Given the description of an element on the screen output the (x, y) to click on. 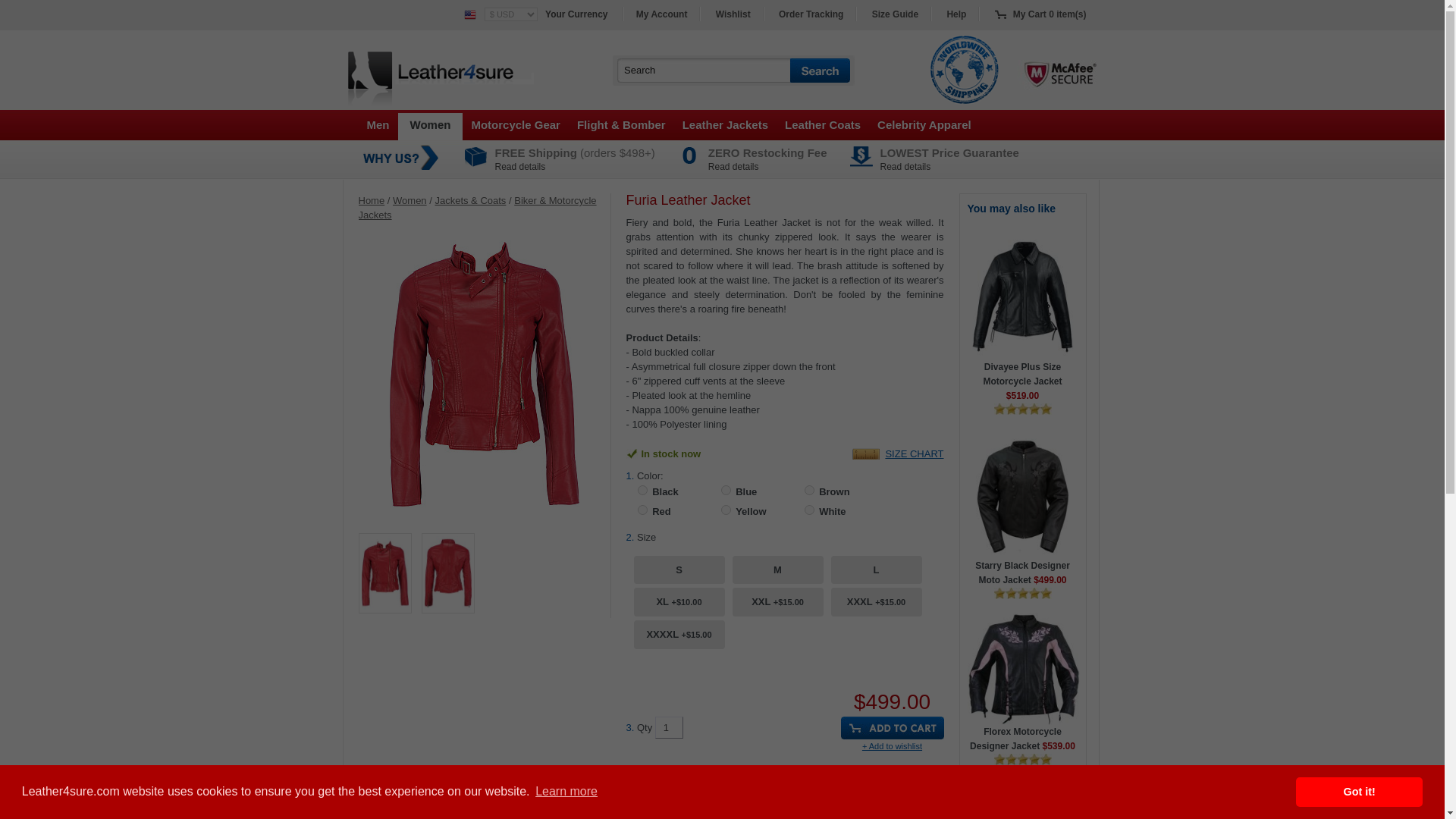
29 (641, 490)
Help (956, 14)
Read details (905, 166)
Learn more (565, 791)
My Account (661, 14)
Motorcycle Gear (516, 124)
47 (641, 510)
SIZE CHART (914, 453)
Wishlist (733, 14)
Leather Jackets (725, 124)
46 (725, 490)
Men (377, 124)
Women (430, 126)
Worldwide Shipping (965, 70)
Search (703, 70)
